Given the description of an element on the screen output the (x, y) to click on. 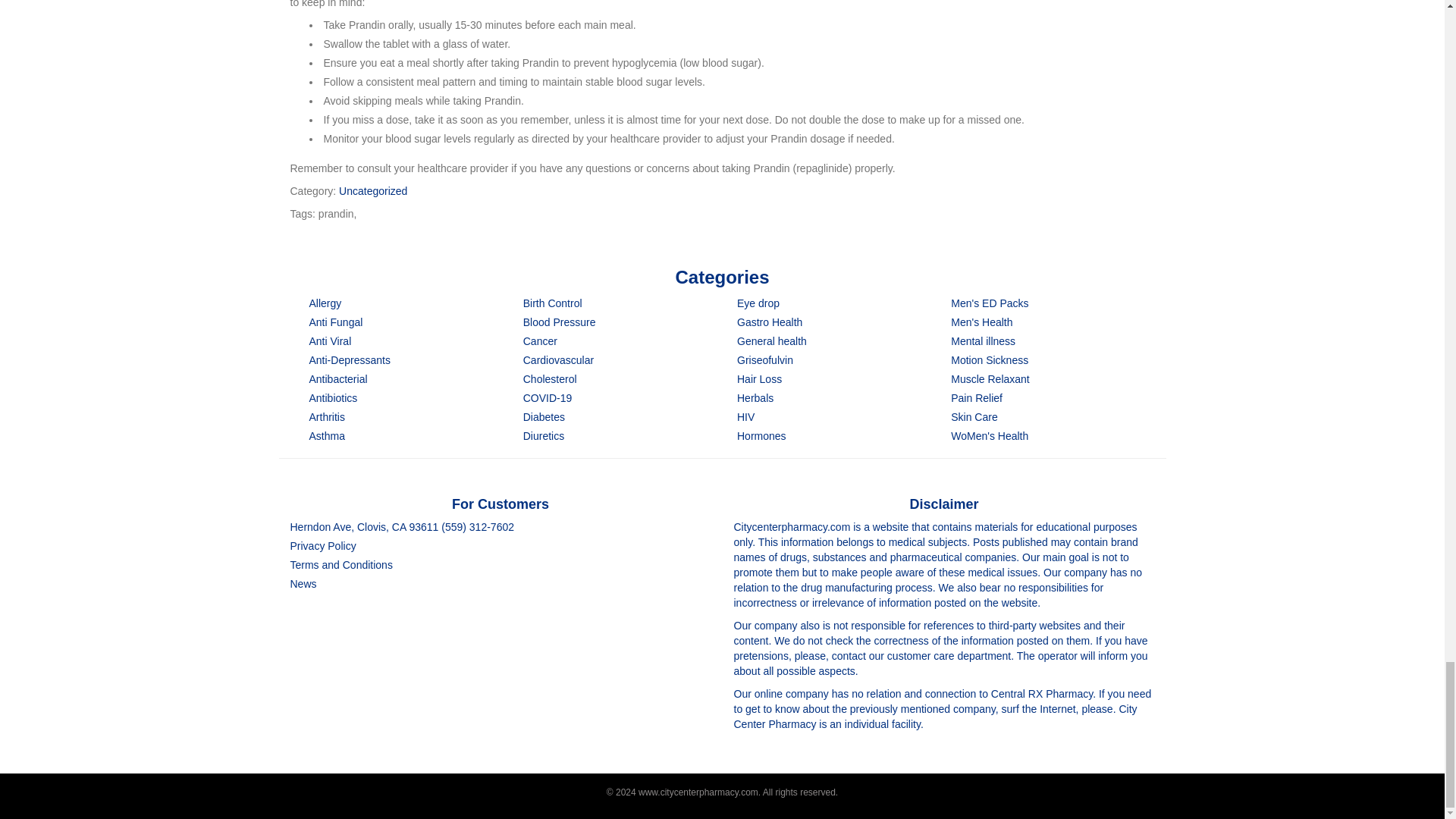
Arthritis (326, 417)
Anti-Depressants (349, 359)
Asthma (326, 435)
Allergy (325, 303)
Blood Pressure (558, 322)
Cardiovascular (558, 359)
Gastro Health (769, 322)
Anti Fungal (335, 322)
Antibacterial (338, 378)
Birth Control (552, 303)
Uncategorized (373, 191)
Cancer (539, 340)
COVID-19 (547, 398)
Anti Viral (330, 340)
Antibiotics (333, 398)
